Given the description of an element on the screen output the (x, y) to click on. 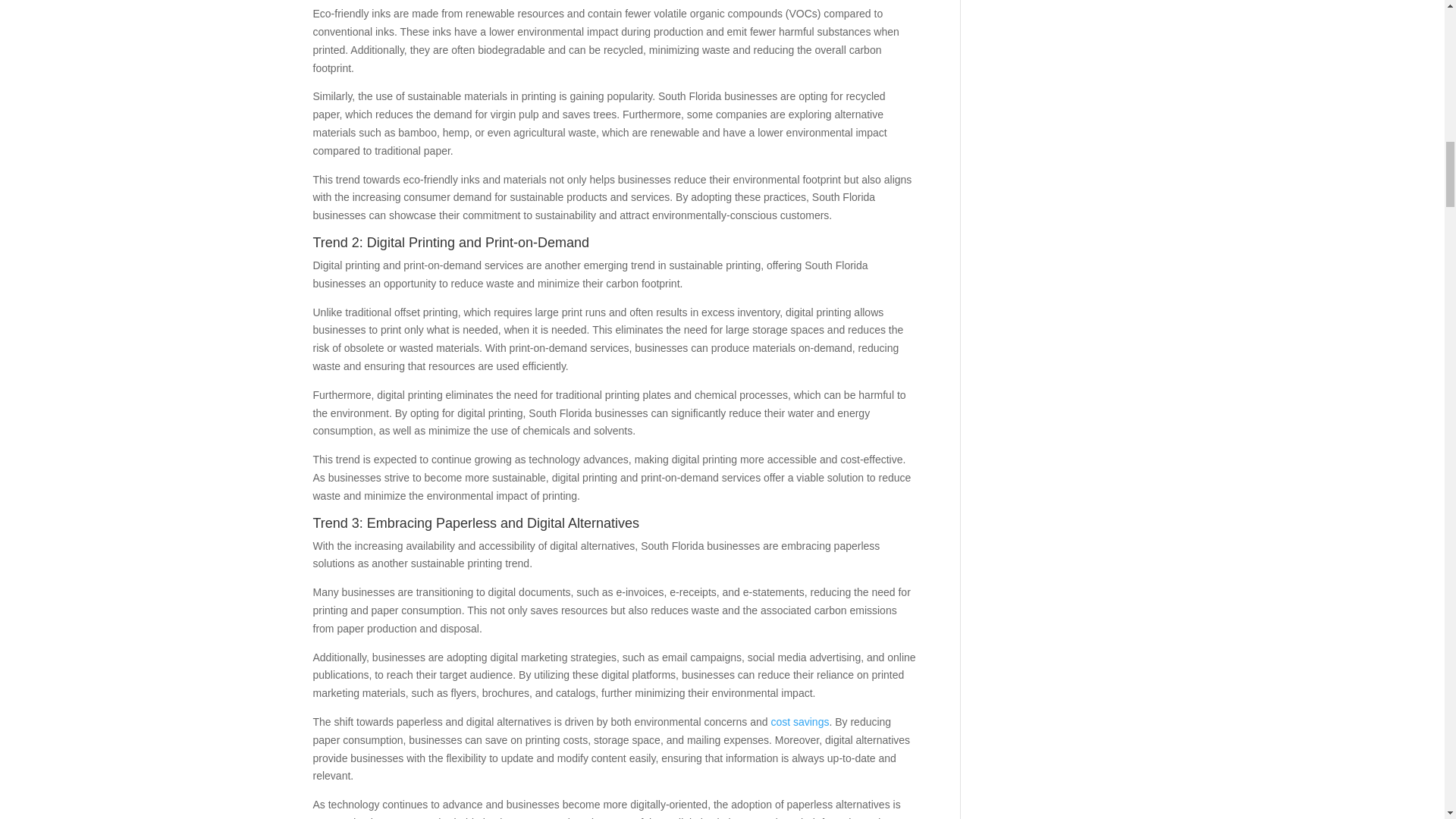
cost savings (799, 721)
